Given the description of an element on the screen output the (x, y) to click on. 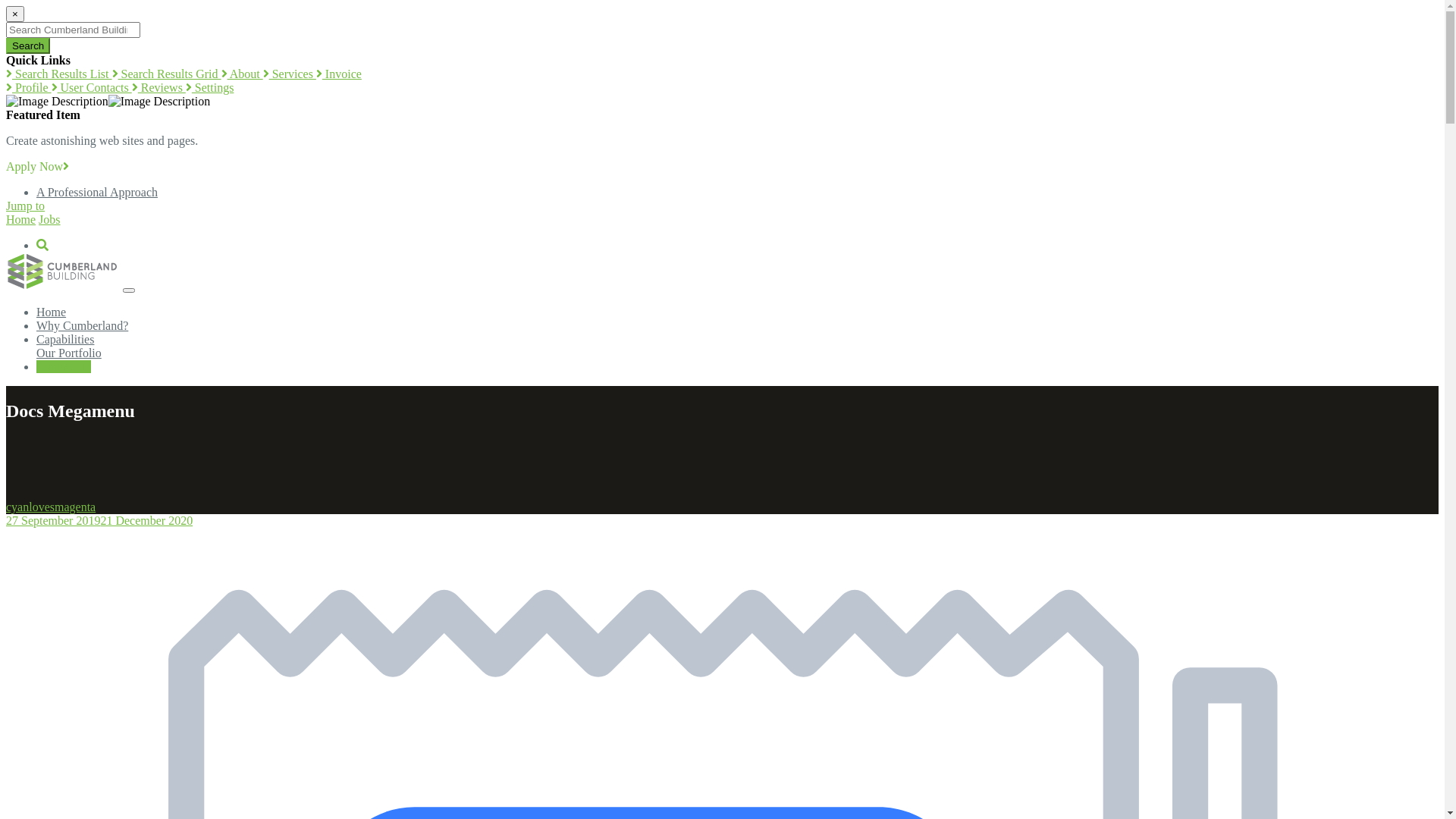
Profile Element type: text (28, 87)
Contact Us Element type: text (63, 366)
Services Element type: text (289, 73)
Apply Now Element type: text (37, 166)
Invoice Element type: text (338, 73)
Home Element type: text (50, 311)
Our Portfolio Element type: text (68, 352)
Capabilities Element type: text (65, 338)
User Contacts Element type: text (91, 87)
27 September 201921 December 2020 Element type: text (99, 520)
Jobs Element type: text (48, 219)
Jump to Element type: text (25, 205)
Settings Element type: text (209, 87)
Search Element type: text (28, 45)
Why Cumberland? Element type: text (82, 325)
Home Element type: text (20, 219)
About Element type: text (242, 73)
Search Results Grid Element type: text (166, 73)
A Professional Approach Element type: text (96, 191)
Search Results List Element type: text (59, 73)
cyanlovesmagenta Element type: text (50, 506)
Reviews Element type: text (158, 87)
